Given the description of an element on the screen output the (x, y) to click on. 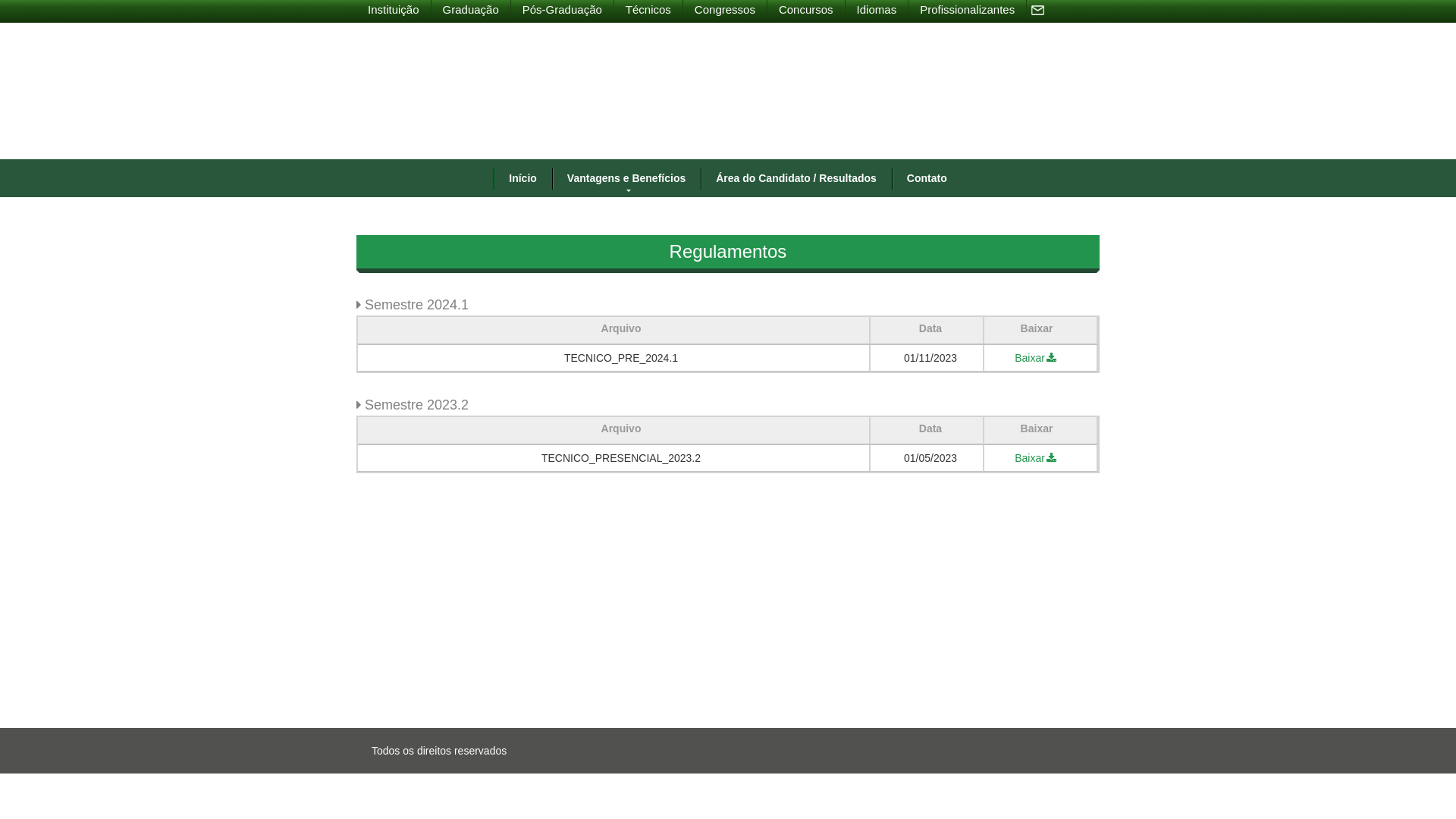
Congressos Element type: text (725, 9)
Profissionalizantes Element type: text (967, 9)
Baixar Element type: text (1036, 457)
Idiomas Element type: text (877, 9)
Baixar Element type: text (1036, 357)
Contato Element type: text (926, 178)
Concursos Element type: text (806, 9)
